Given the description of an element on the screen output the (x, y) to click on. 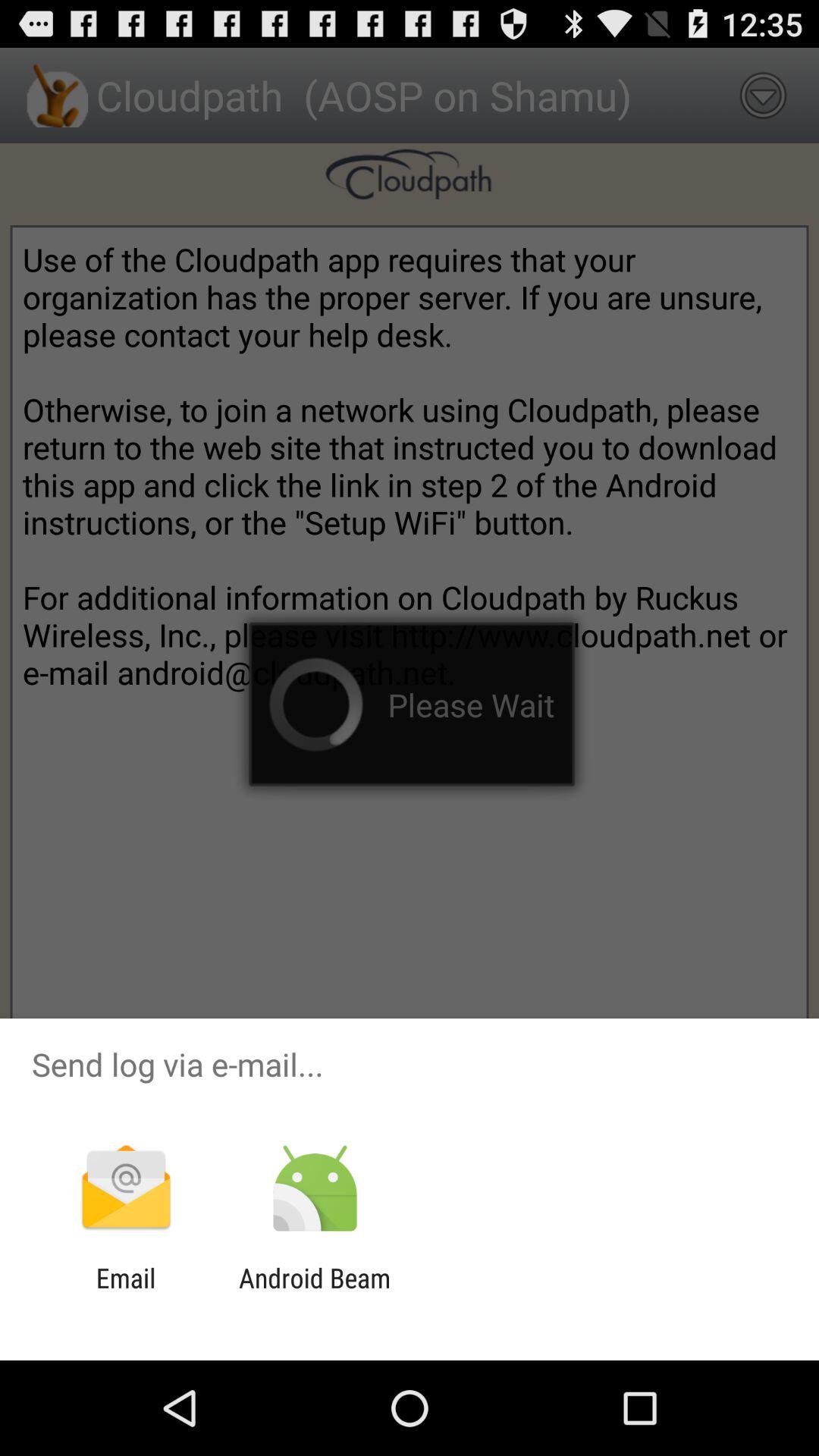
choose the app next to the email icon (314, 1293)
